Given the description of an element on the screen output the (x, y) to click on. 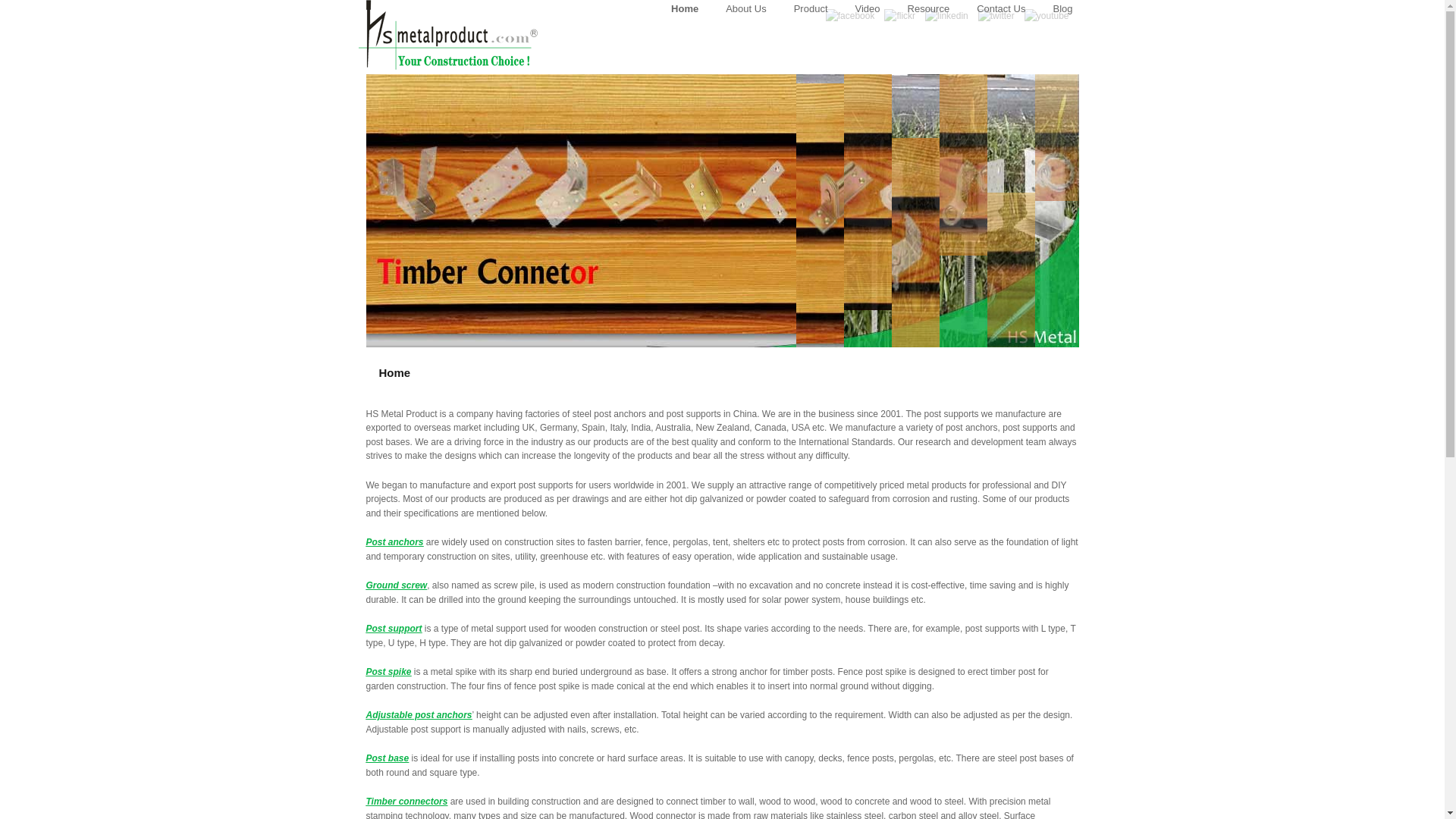
post supports (693, 412)
Resource (928, 9)
Timber connectors (405, 801)
Post anchors (394, 542)
Post spike (387, 671)
Product (810, 9)
Post support (393, 628)
Adjustable post anchors (418, 715)
Blog (1062, 9)
Contact Us (1000, 9)
Ground screw (395, 584)
About Us (744, 9)
Home (684, 9)
Video (867, 9)
Post base (387, 757)
